Given the description of an element on the screen output the (x, y) to click on. 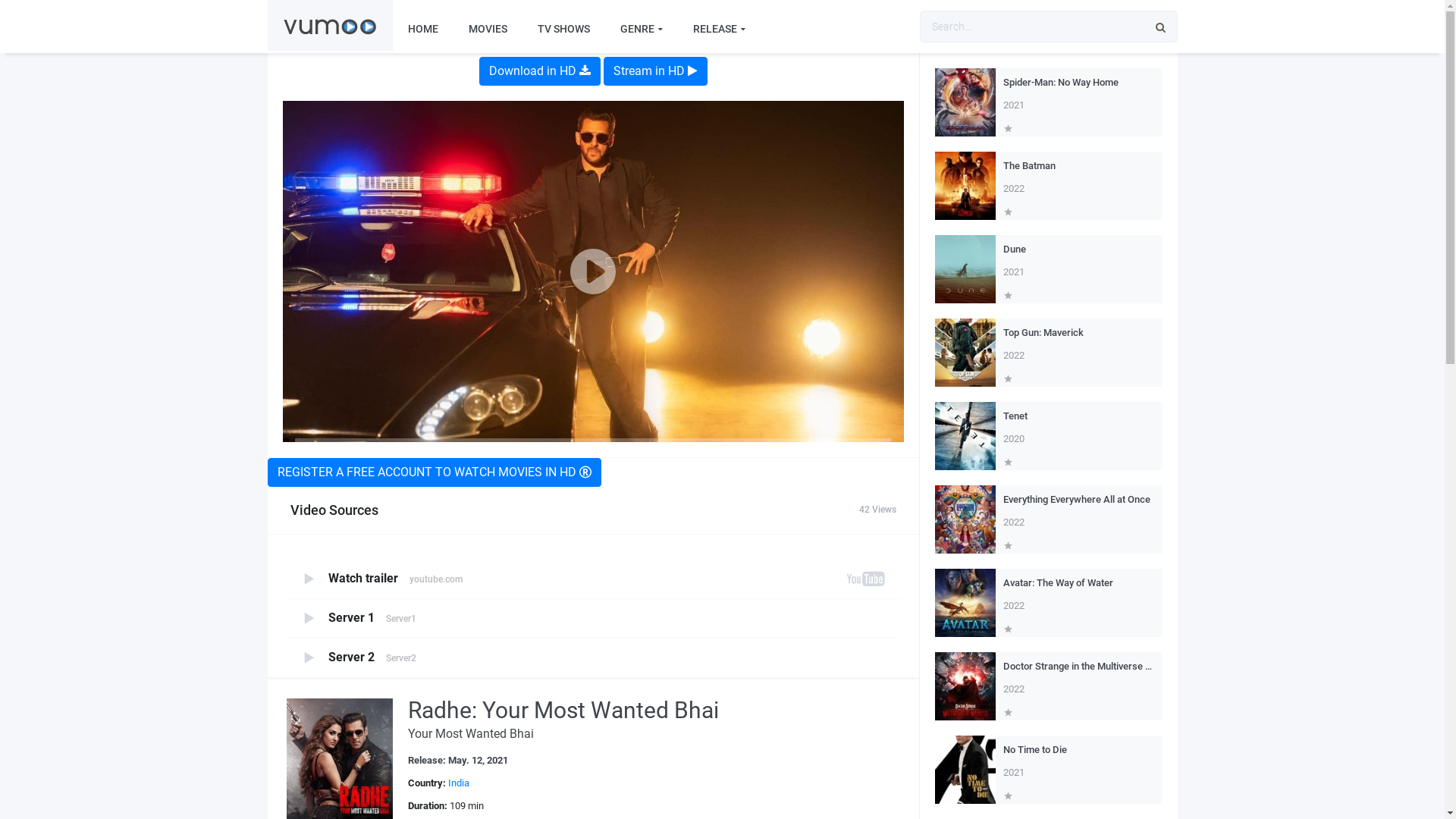
TV SHOWS Element type: text (562, 29)
HOME Element type: text (422, 29)
India Element type: text (457, 782)
GENRE Element type: text (641, 29)
REGISTER A FREE ACCOUNT TO WATCH MOVIES IN HD Element type: text (433, 472)
RELEASE Element type: text (718, 29)
MOVIES Element type: text (487, 29)
Download in HD Element type: text (539, 70)
Stream in HD Element type: text (655, 70)
